Given the description of an element on the screen output the (x, y) to click on. 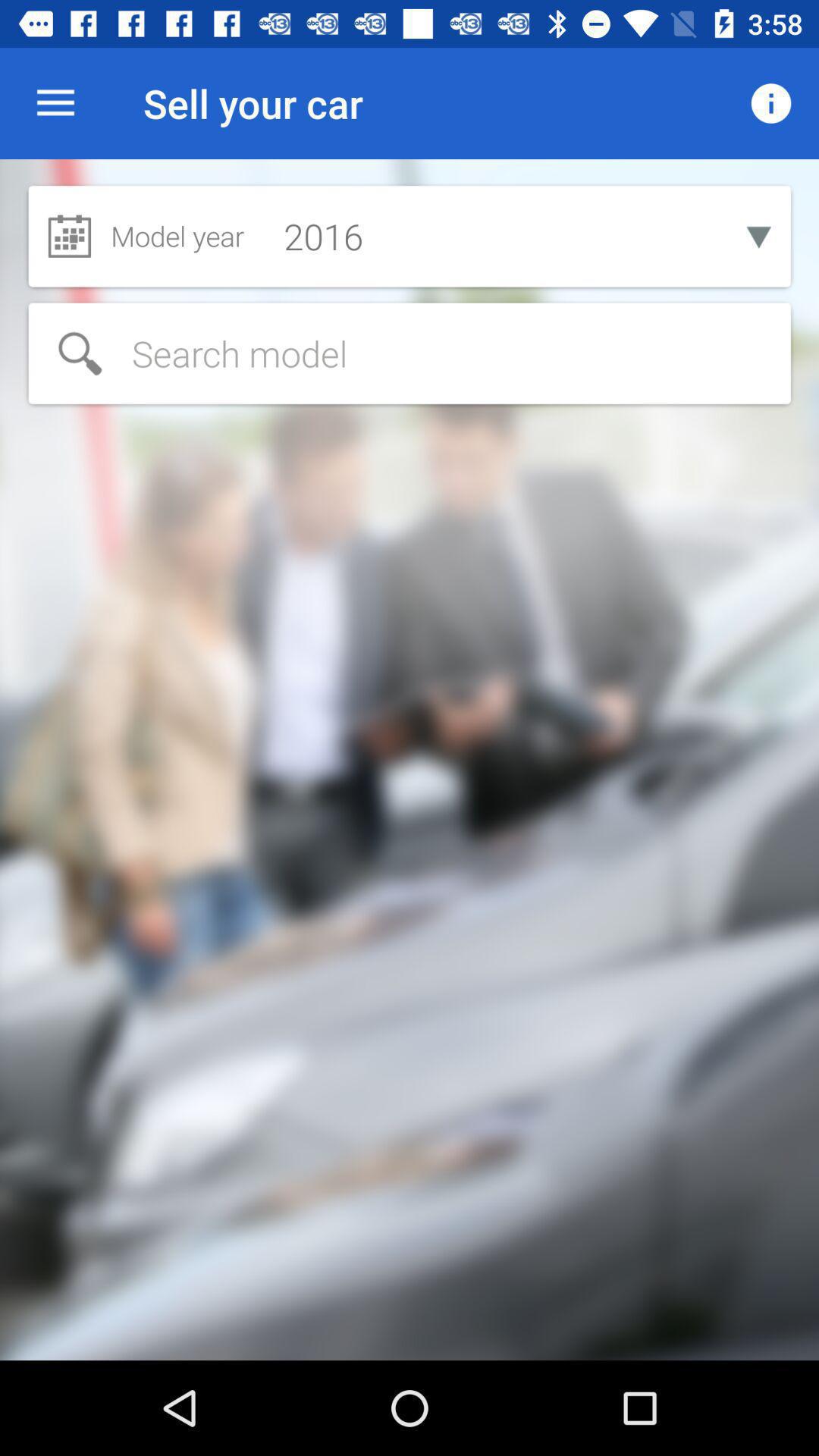
search model (409, 353)
